Given the description of an element on the screen output the (x, y) to click on. 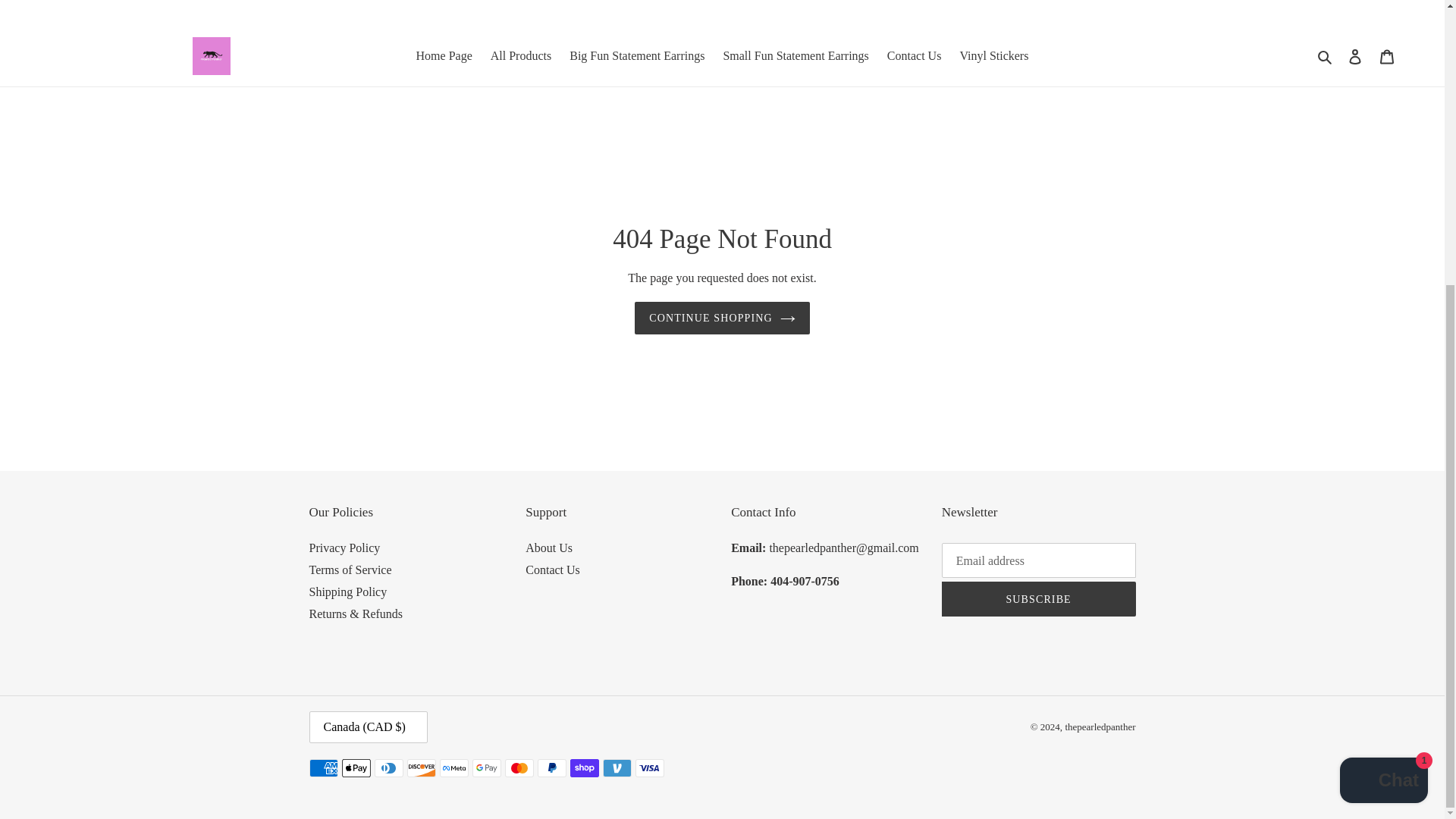
CONTINUE SHOPPING (721, 318)
Terms of Service (349, 569)
About Us (548, 547)
Shopify online store chat (1383, 352)
Cart (1387, 55)
Vinyl Stickers (993, 56)
Small Fun Statement Earrings (795, 56)
Big Fun Statement Earrings (636, 56)
Contact Us (914, 56)
Log in (1355, 55)
Home Page (444, 56)
All Products (521, 56)
Privacy Policy (344, 547)
Contact Us (552, 569)
